Given the description of an element on the screen output the (x, y) to click on. 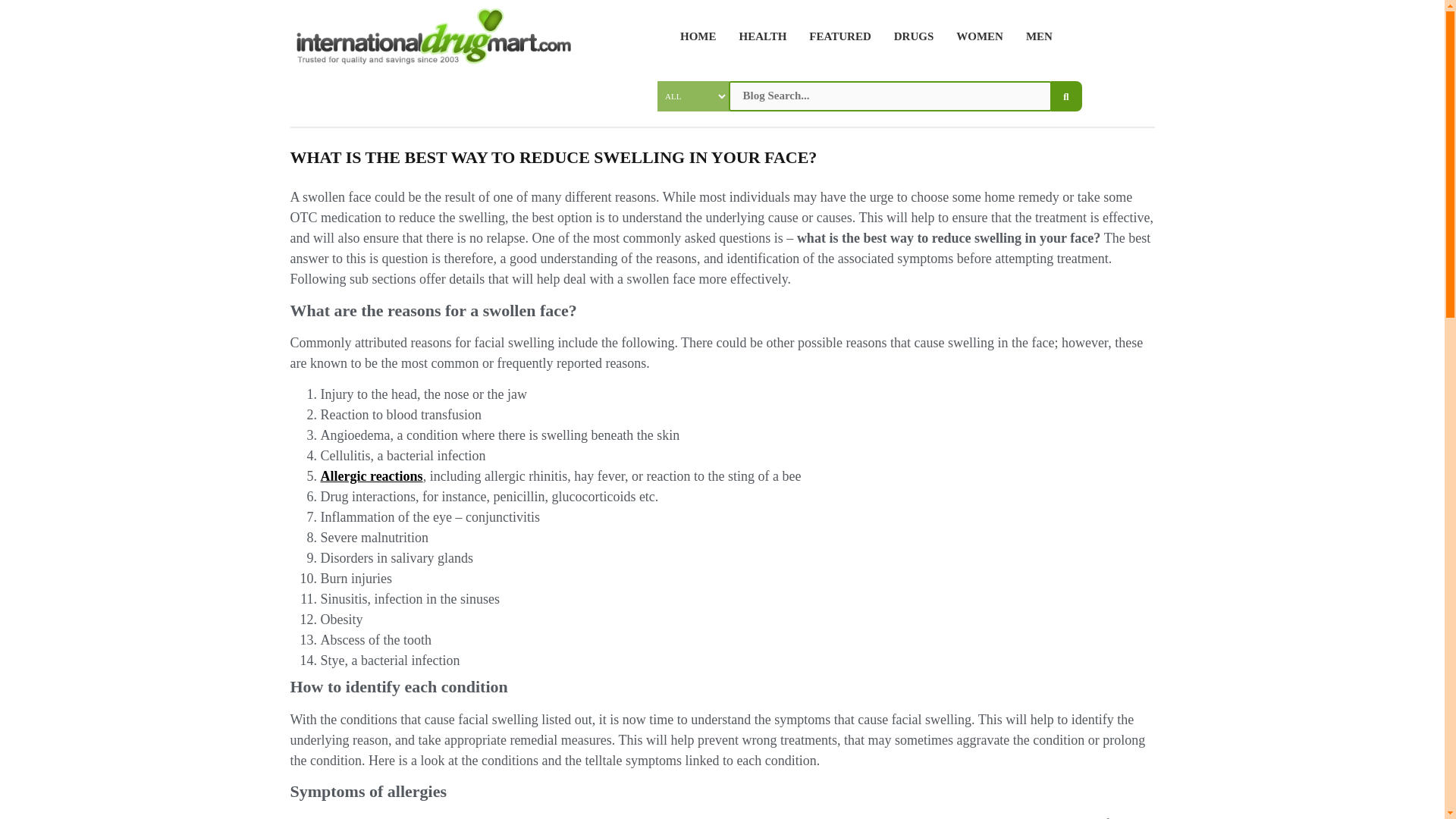
FEATURED (833, 36)
WOMEN (973, 36)
stuffy nose (734, 817)
HEALTH (757, 36)
MEN (1033, 36)
HOME (692, 36)
DRUGS (908, 36)
Allergic reactions (371, 476)
